Given the description of an element on the screen output the (x, y) to click on. 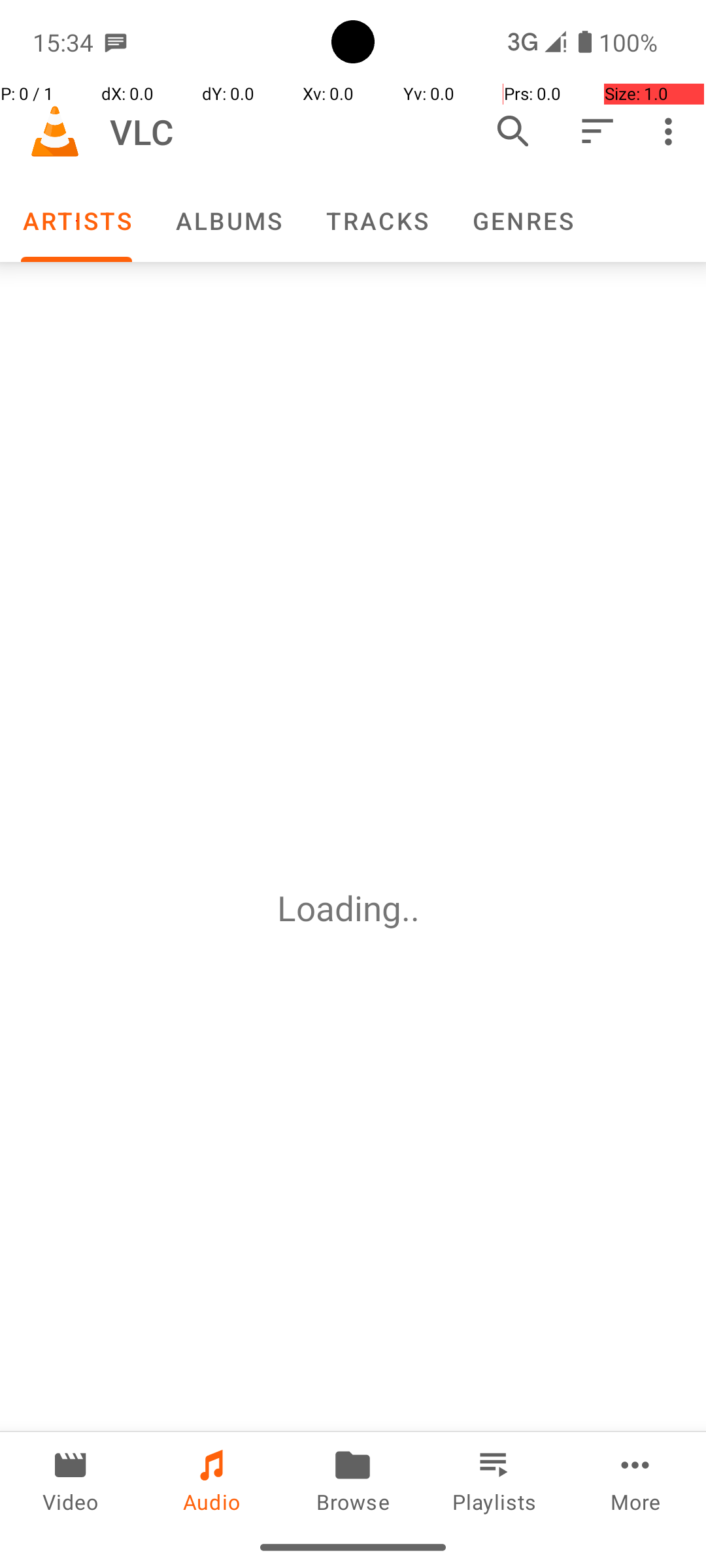
... Element type: android.widget.TextView (414, 907)
Tracks Element type: android.widget.LinearLayout (376, 220)
Genres Element type: android.widget.LinearLayout (521, 220)
ARTISTS Element type: android.widget.TextView (76, 220)
ALBUMS Element type: android.widget.TextView (227, 220)
TRACKS Element type: android.widget.TextView (376, 220)
GENRES Element type: android.widget.TextView (521, 220)
